Given the description of an element on the screen output the (x, y) to click on. 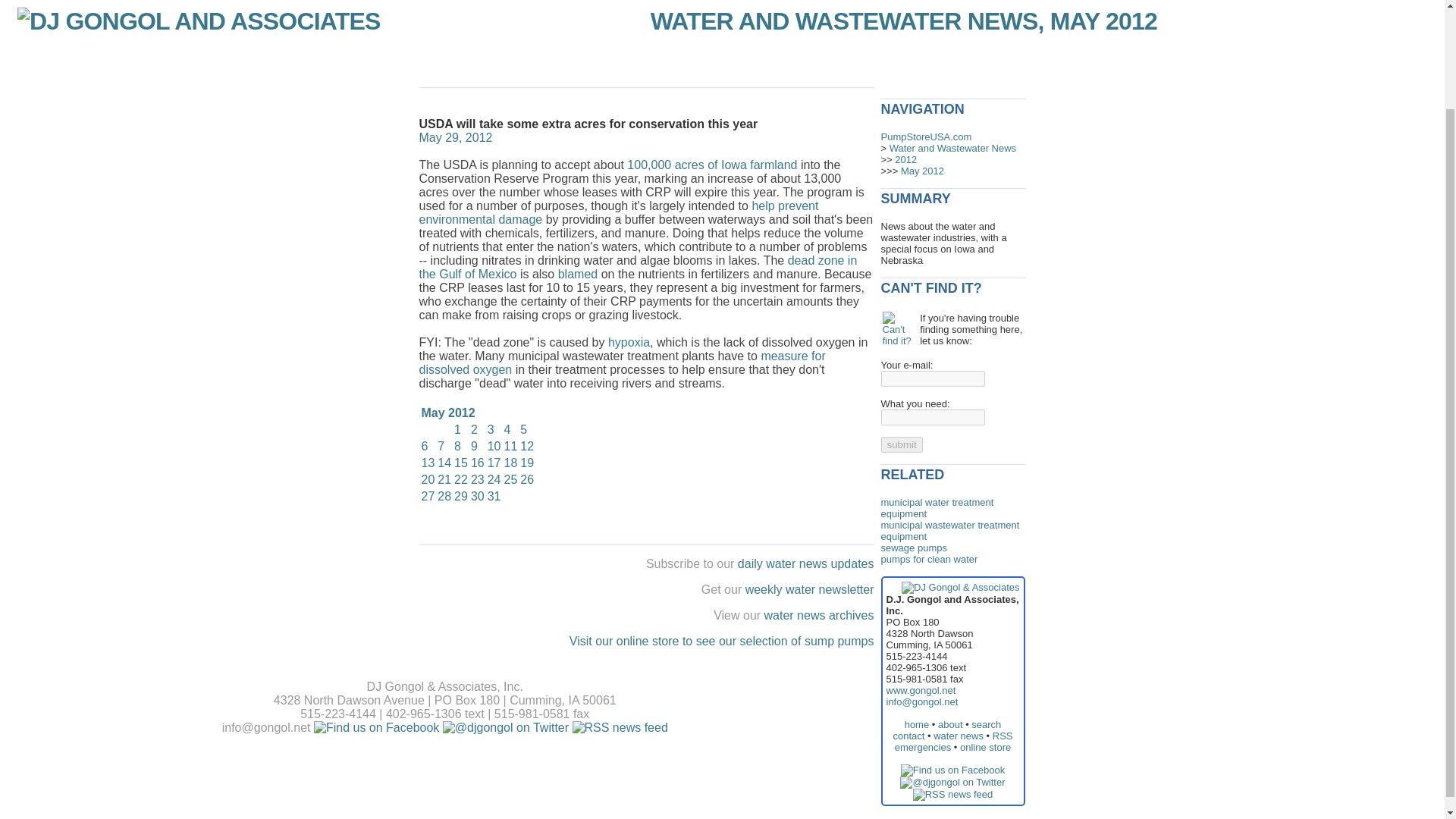
municipal wastewater treatment equipment (950, 530)
WATER AND WASTEWATER NEWS, MAY 2012 (903, 21)
about (949, 724)
online store (984, 747)
search (986, 724)
home (917, 724)
www.gongol.net (920, 690)
water news (958, 736)
2012 (906, 159)
submit (901, 444)
